Given the description of an element on the screen output the (x, y) to click on. 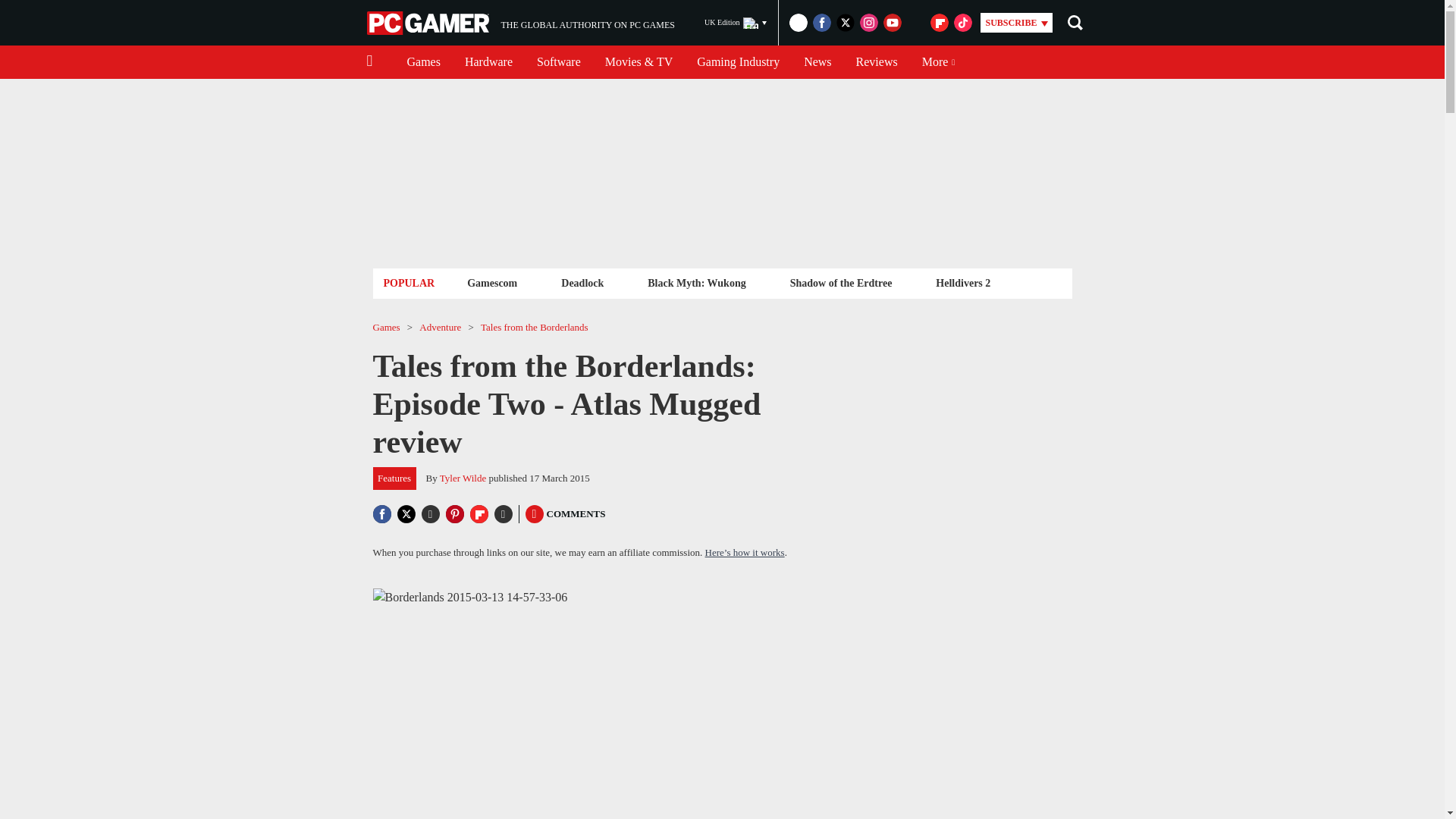
Gamescom (491, 282)
Reviews (877, 61)
PC Gamer (429, 22)
UK Edition (520, 22)
Software (735, 22)
Deadlock (558, 61)
Hardware (582, 282)
News (488, 61)
Gaming Industry (817, 61)
